Given the description of an element on the screen output the (x, y) to click on. 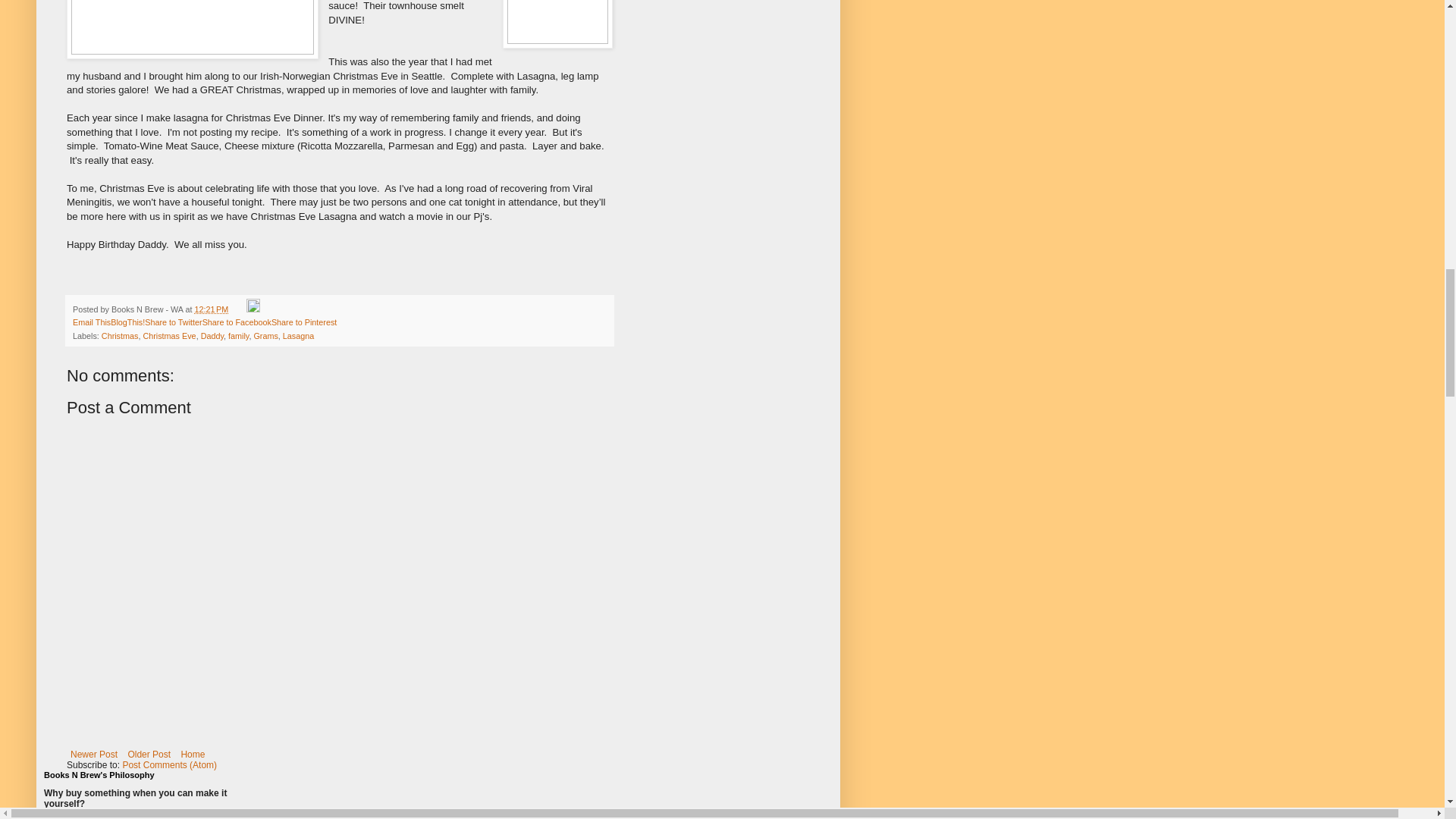
Older Post (148, 754)
Newer Post (93, 754)
Grams (265, 335)
Email This (91, 321)
Share to Twitter (173, 321)
Share to Facebook (236, 321)
Home (192, 754)
Newer Post (93, 754)
Share to Pinterest (303, 321)
Share to Facebook (236, 321)
Christmas Eve (168, 335)
Older Post (148, 754)
Share to Twitter (173, 321)
Lasagna (298, 335)
